Given the description of an element on the screen output the (x, y) to click on. 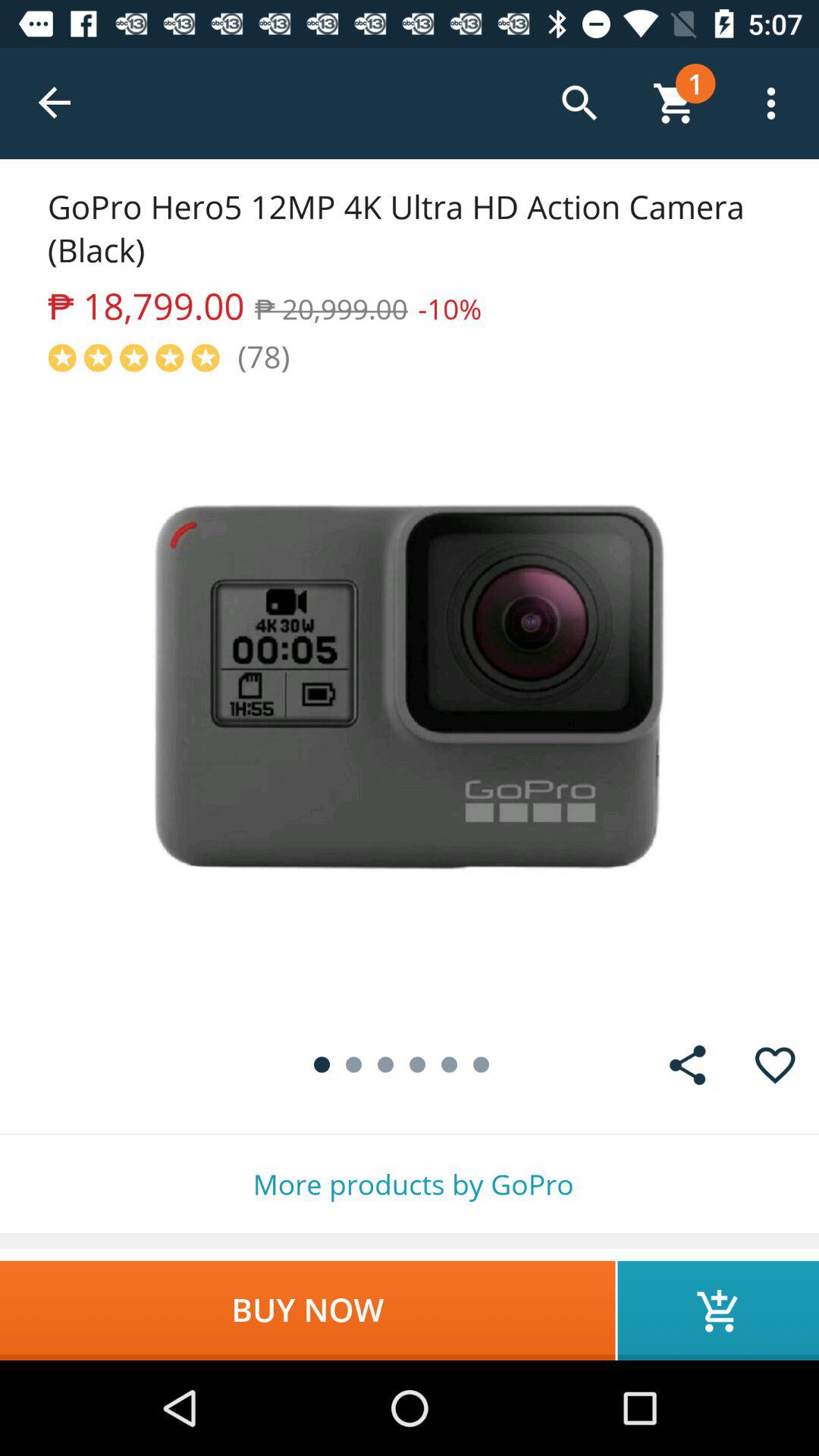
click the more products by icon (409, 1184)
